Given the description of an element on the screen output the (x, y) to click on. 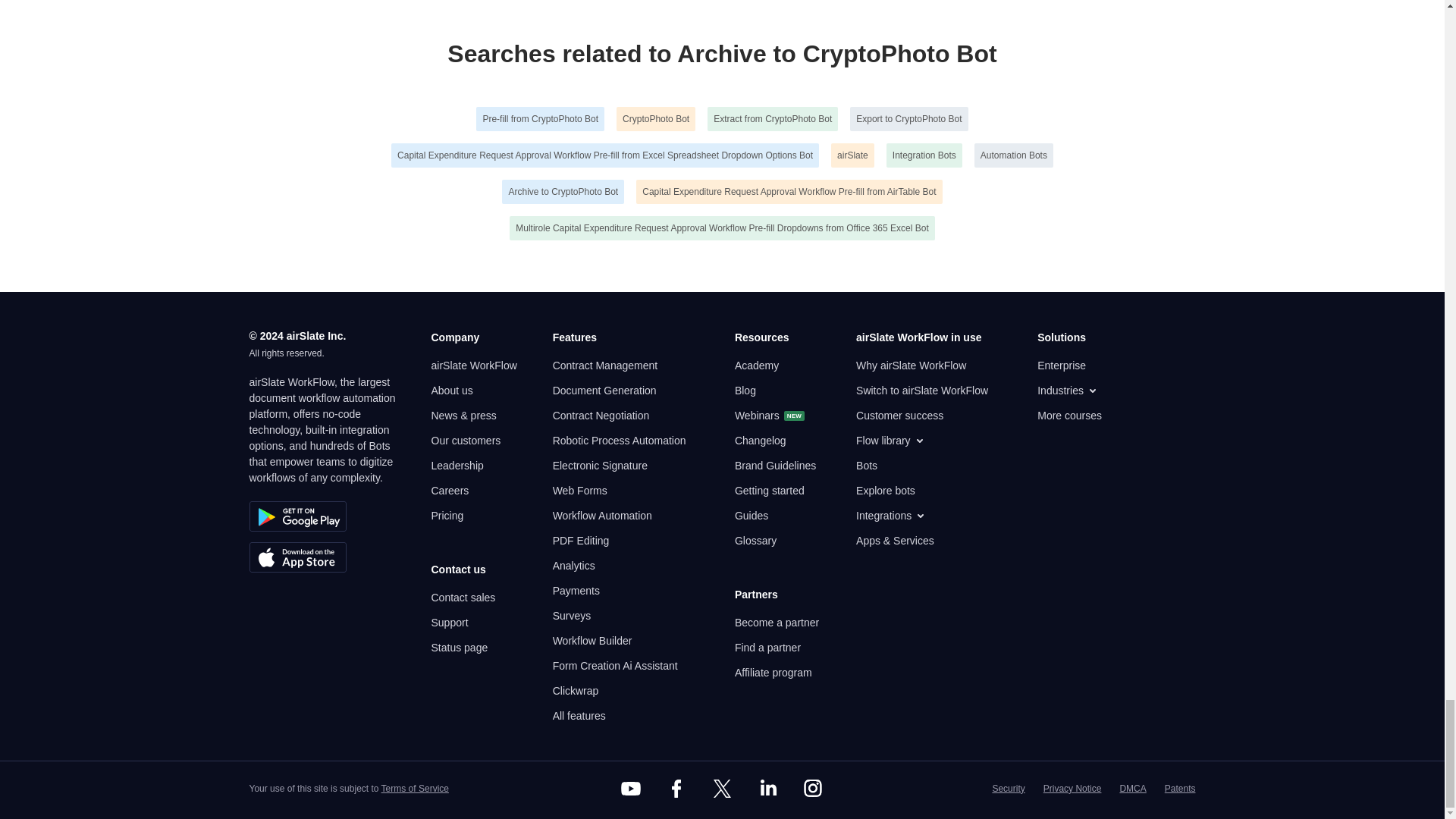
Facebook (676, 788)
YouTube (630, 788)
Instagram (812, 788)
LinkedIn (767, 788)
Twitter (721, 788)
